Given the description of an element on the screen output the (x, y) to click on. 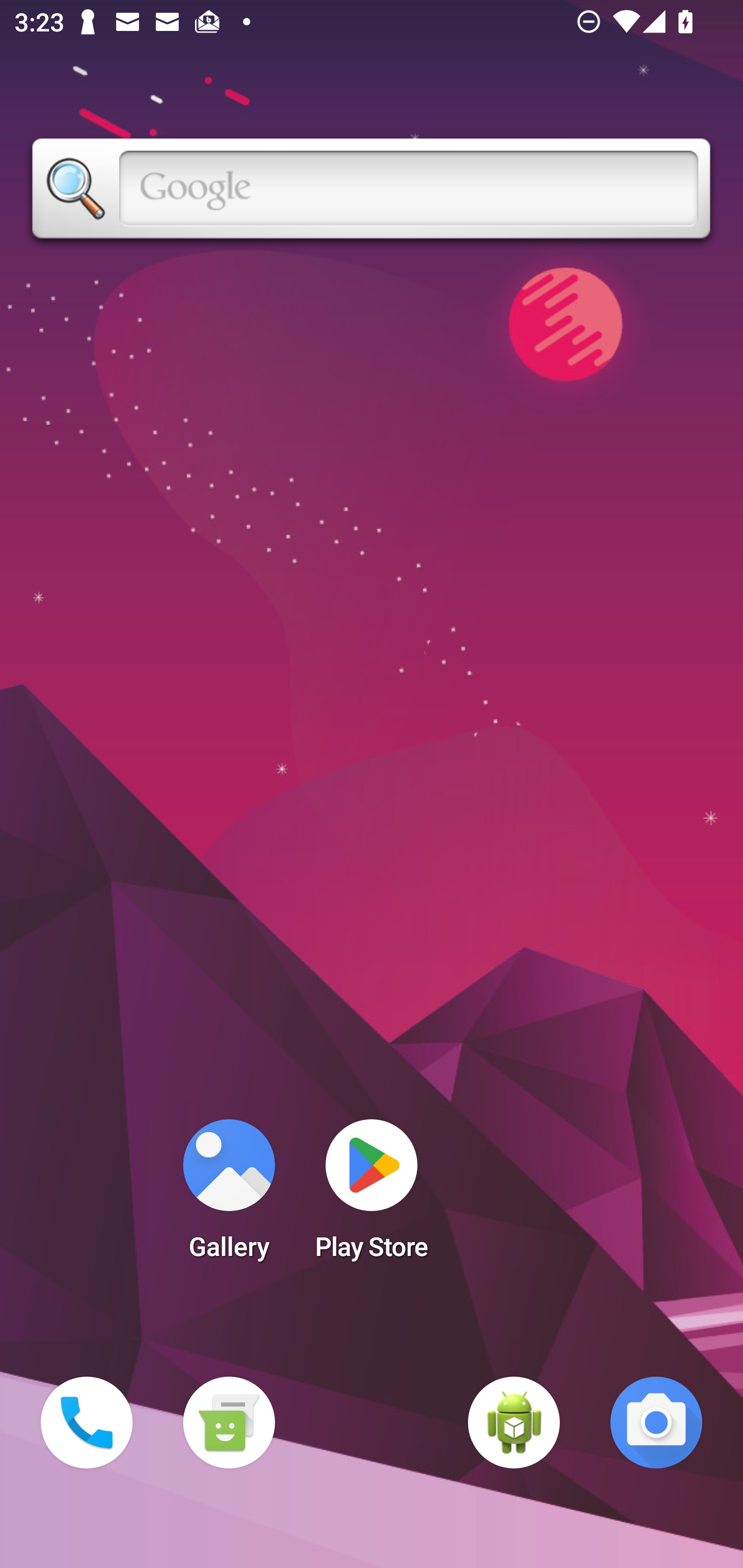
Gallery (228, 1195)
Play Store (371, 1195)
Phone (86, 1422)
Messaging (228, 1422)
WebView Browser Tester (513, 1422)
Camera (656, 1422)
